Given the description of an element on the screen output the (x, y) to click on. 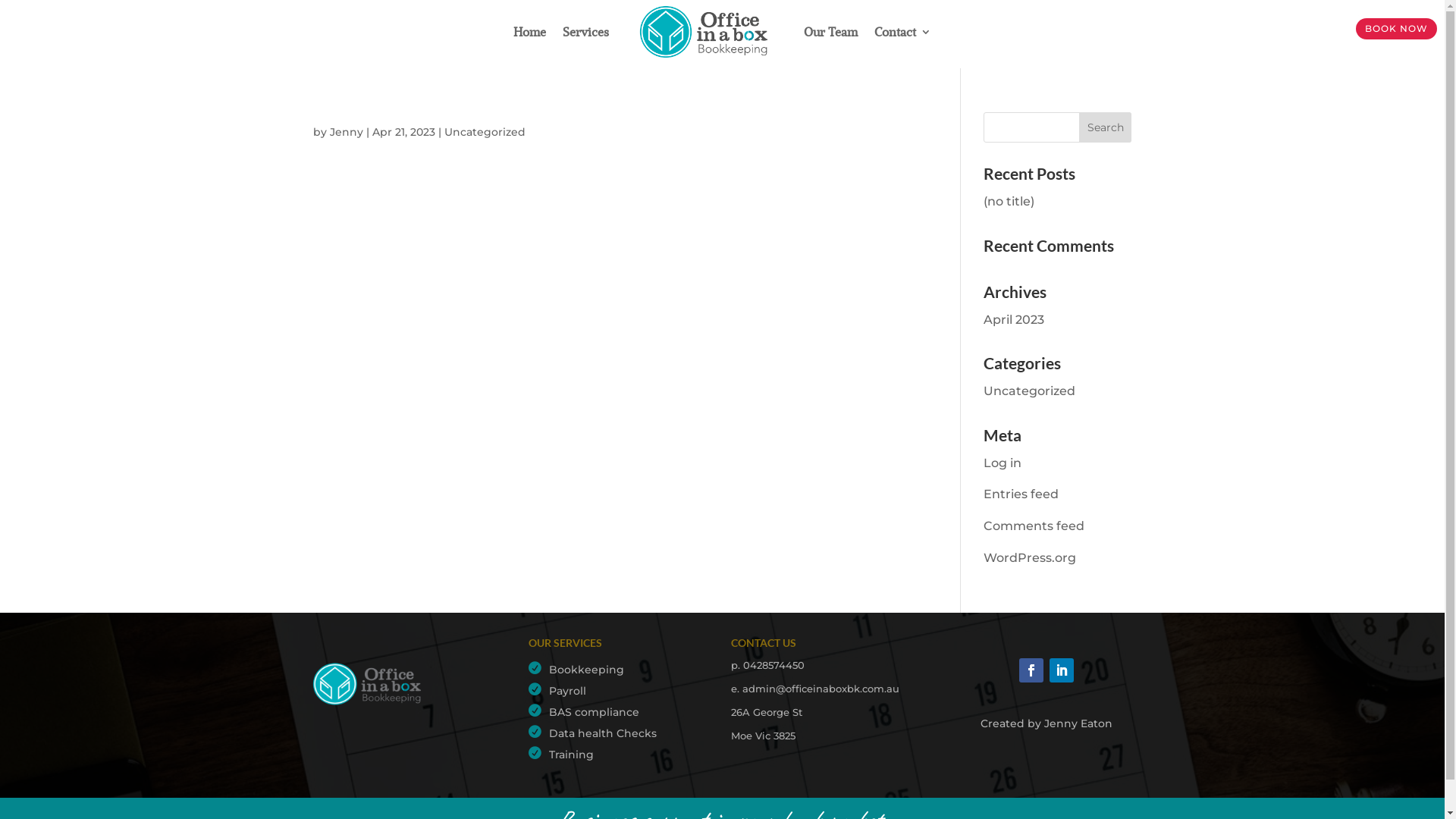
BOOK NOW Element type: text (1396, 28)
Contact Element type: text (902, 31)
Uncategorized Element type: text (484, 131)
Jenny Element type: text (345, 131)
Follow on LinkedIn Element type: hover (1061, 670)
LOGO small web Element type: hover (368, 683)
Services Element type: text (585, 31)
Comments feed Element type: text (1033, 525)
Uncategorized Element type: text (1029, 390)
April 2023 Element type: text (1013, 319)
Follow on Facebook Element type: hover (1031, 670)
Entries feed Element type: text (1020, 493)
Home Element type: text (529, 31)
Log in Element type: text (1002, 462)
WordPress.org Element type: text (1029, 557)
(no title) Element type: text (1008, 201)
Search Element type: text (1105, 127)
Our Team Element type: text (830, 31)
